Given the description of an element on the screen output the (x, y) to click on. 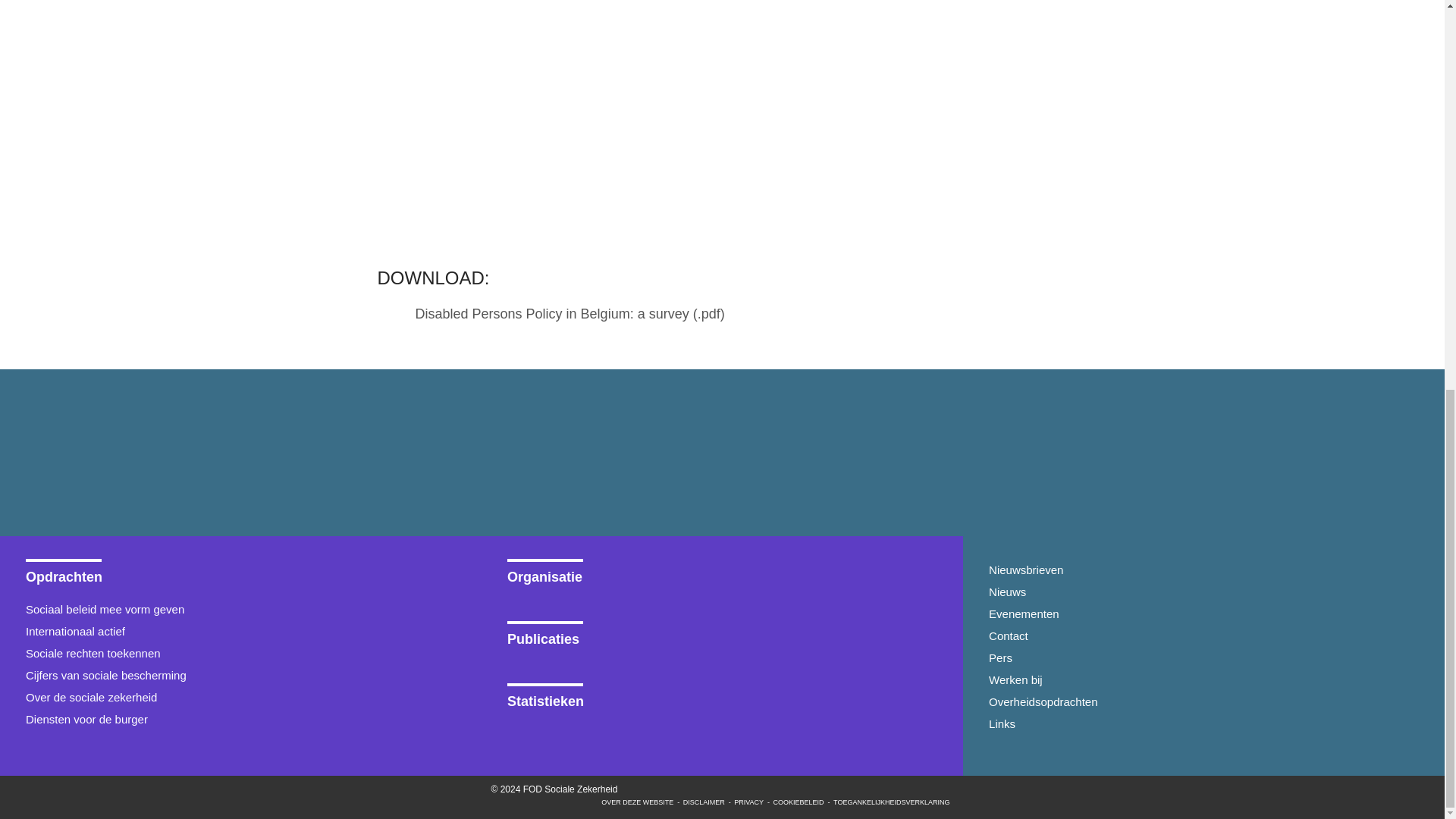
Wij ondersteunen specifieke sociale doelgroepen (240, 653)
Wij verdedigen en promoten het Belgische sociale model (240, 630)
Opdrachten (240, 571)
